Given the description of an element on the screen output the (x, y) to click on. 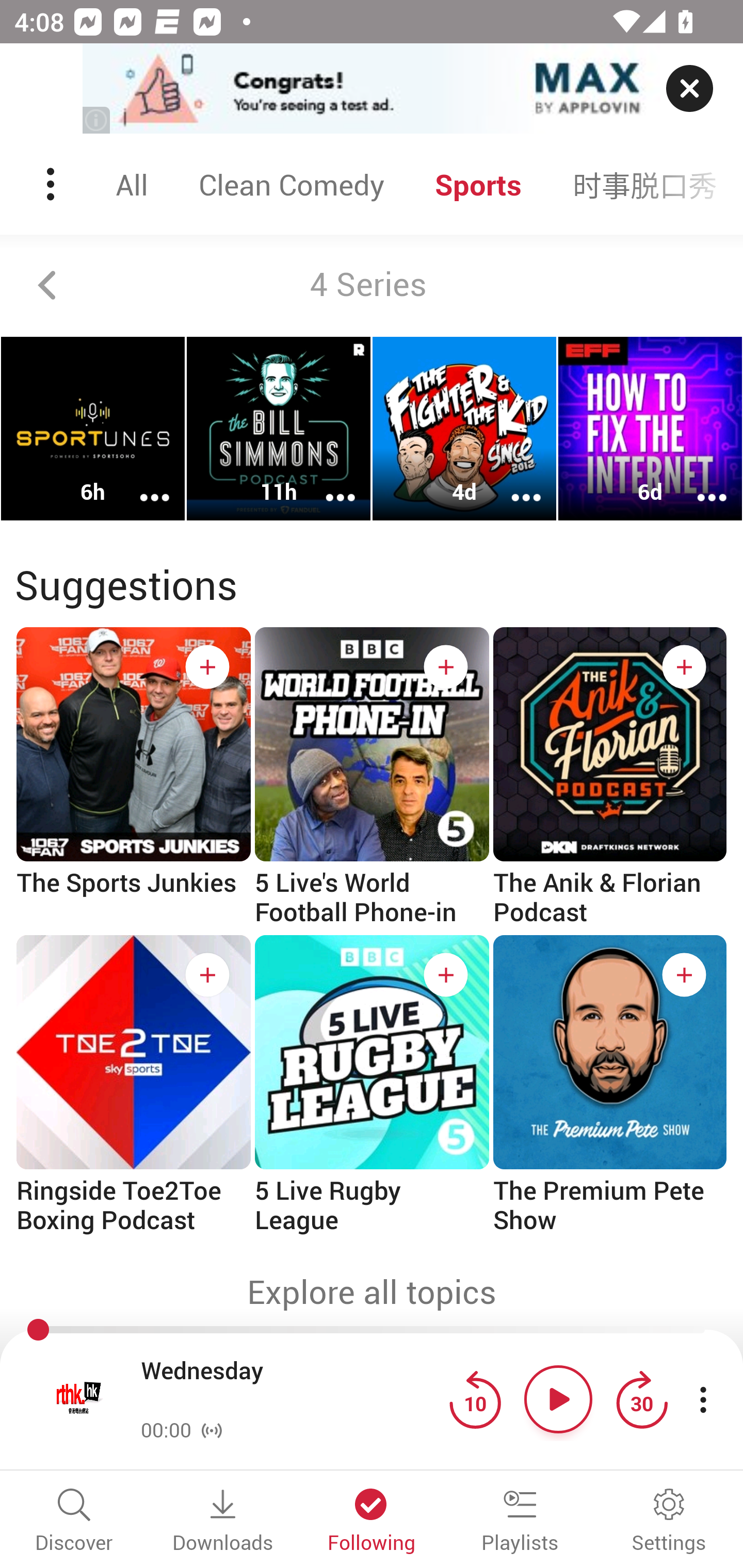
app-monetization (371, 88)
(i) (96, 119)
Menu (52, 184)
All (131, 184)
Clean Comedy (291, 184)
Sports (478, 184)
时事脱口秀 (644, 184)
4 Series (371, 285)
Sportunes HK 6h More options More options (92, 428)
The Fighter & The Kid 4d More options More options (464, 428)
More options (141, 484)
More options (326, 484)
More options (512, 484)
More options (698, 484)
Subscribe button (207, 666)
Subscribe button (446, 666)
Subscribe button (684, 666)
Subscribe button (207, 974)
Subscribe button (446, 974)
Subscribe button (684, 974)
Explore all topics (371, 1291)
Open fullscreen player (79, 1399)
More player controls (703, 1399)
Wednesday (290, 1385)
Play button (558, 1398)
Jump back (475, 1399)
Jump forward (641, 1399)
Discover (74, 1521)
Downloads (222, 1521)
Following (371, 1521)
Playlists (519, 1521)
Settings (668, 1521)
